Given the description of an element on the screen output the (x, y) to click on. 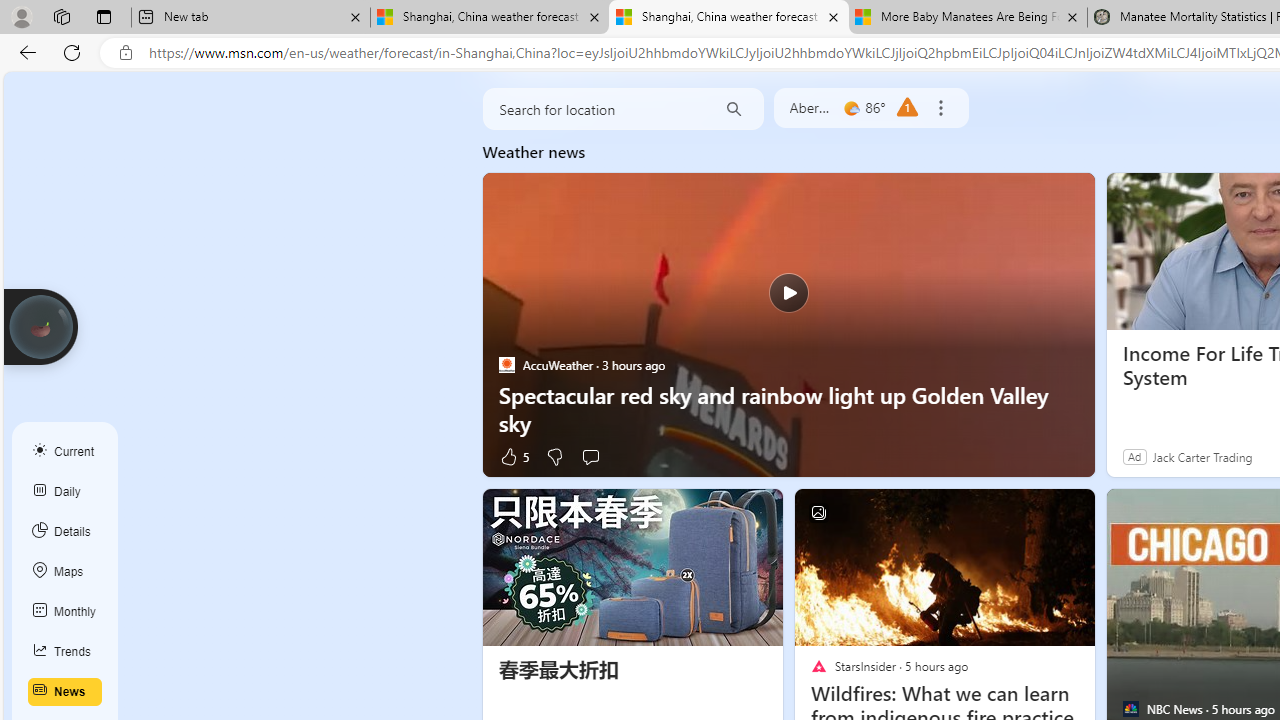
Trends (65, 651)
Jack Carter Trading (1202, 456)
Join us in planting real trees to help our planet! (40, 327)
AccuWeather (505, 364)
NBC News (1130, 709)
